Given the description of an element on the screen output the (x, y) to click on. 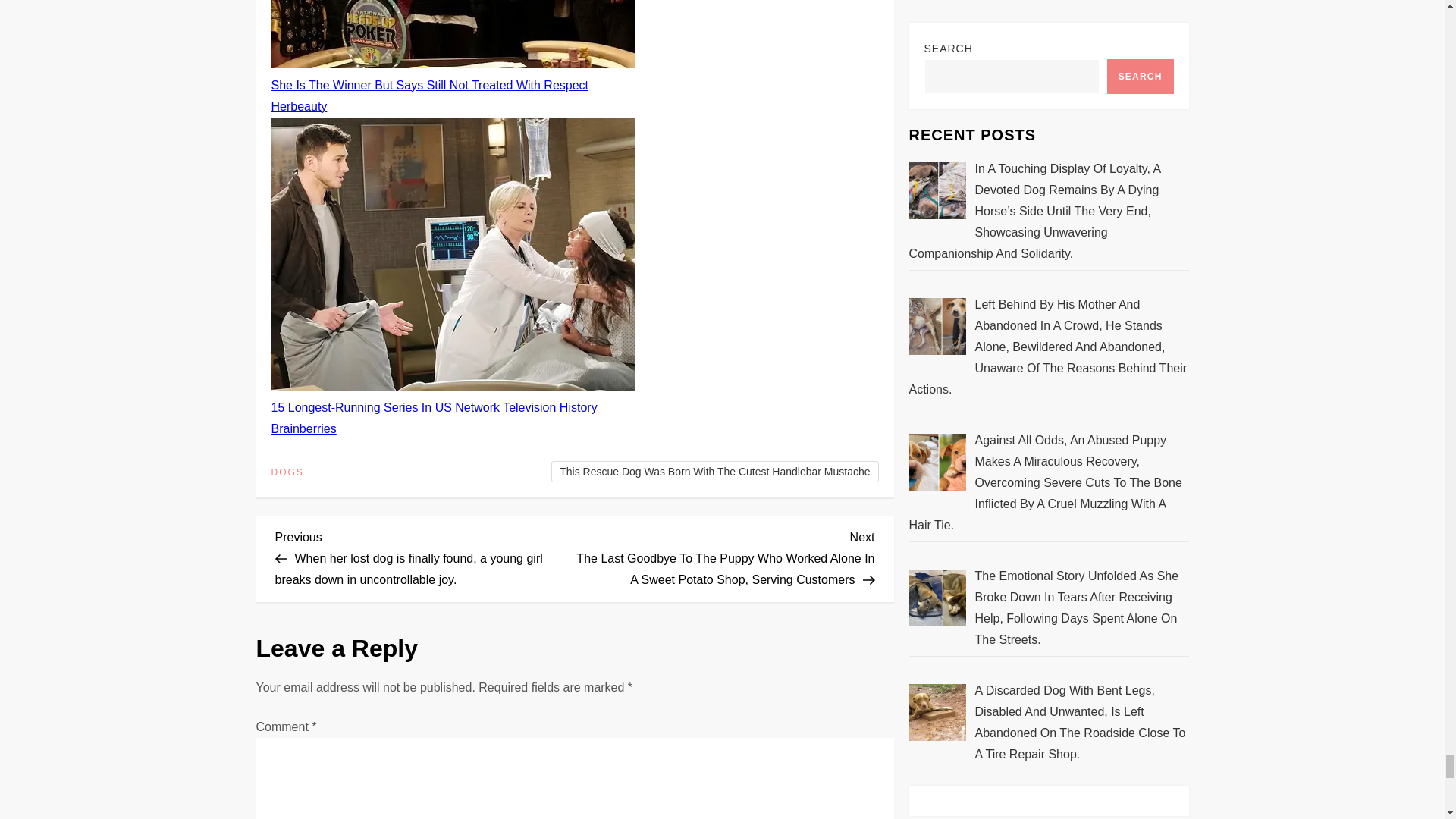
This Rescue Dog Was Born With The Cutest Handlebar Mustache (714, 471)
DOGS (287, 472)
